Given the description of an element on the screen output the (x, y) to click on. 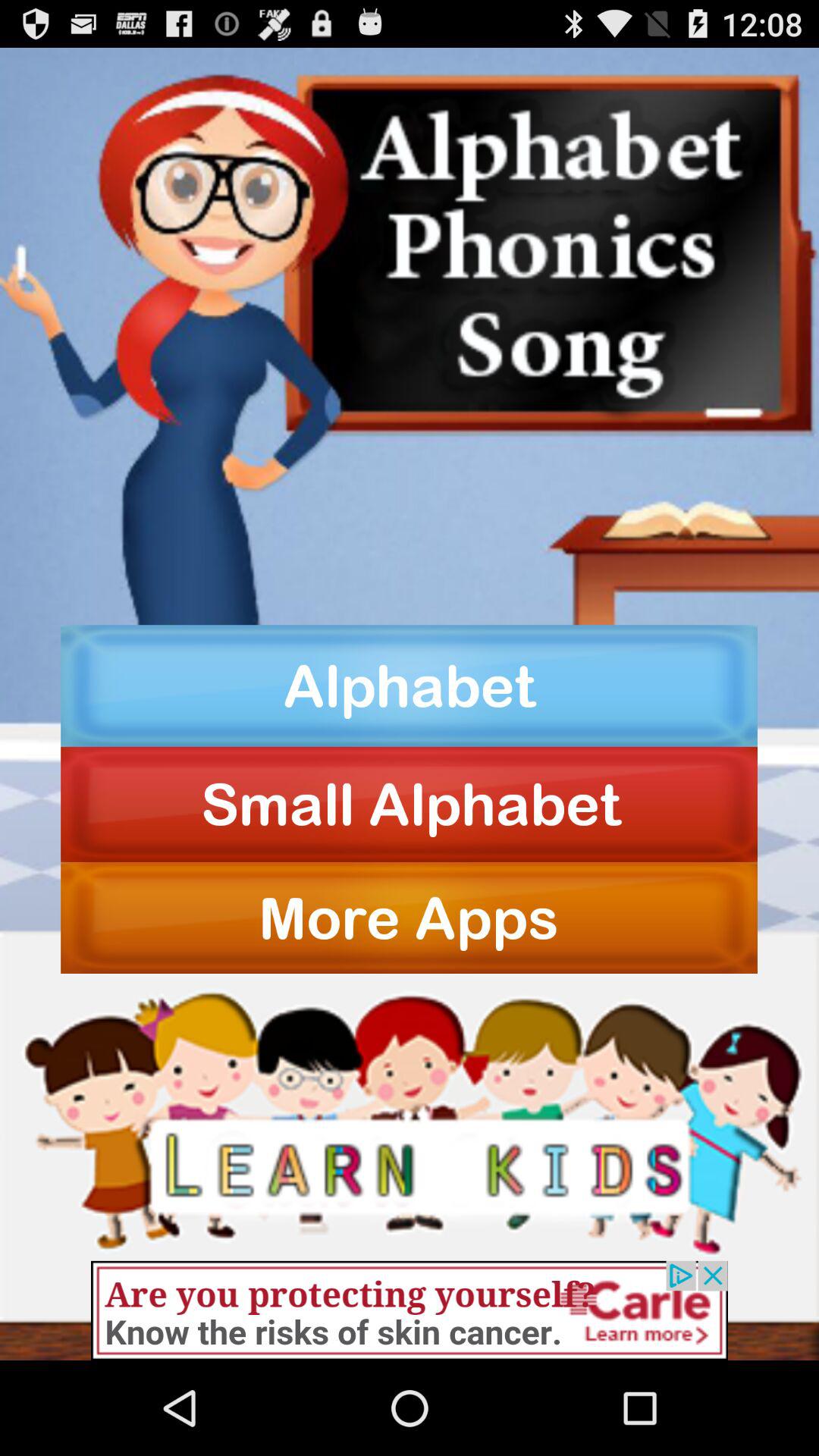
click to learn more about advertisement (409, 1310)
